Given the description of an element on the screen output the (x, y) to click on. 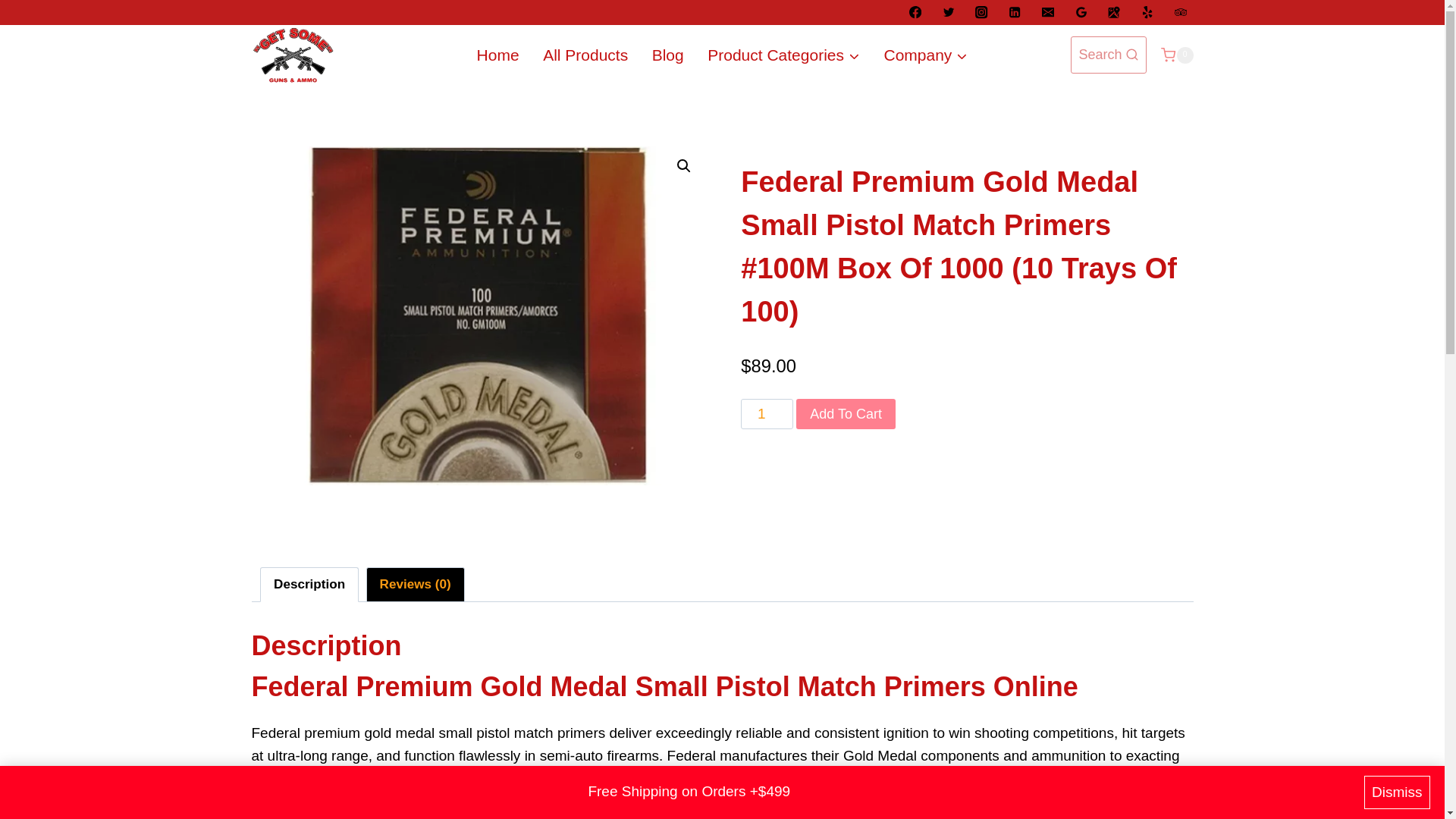
Product Categories (782, 54)
0 (1176, 54)
1 (767, 413)
Home (497, 54)
All Products (585, 54)
Blog (667, 54)
Company (925, 54)
Search (1108, 54)
